Given the description of an element on the screen output the (x, y) to click on. 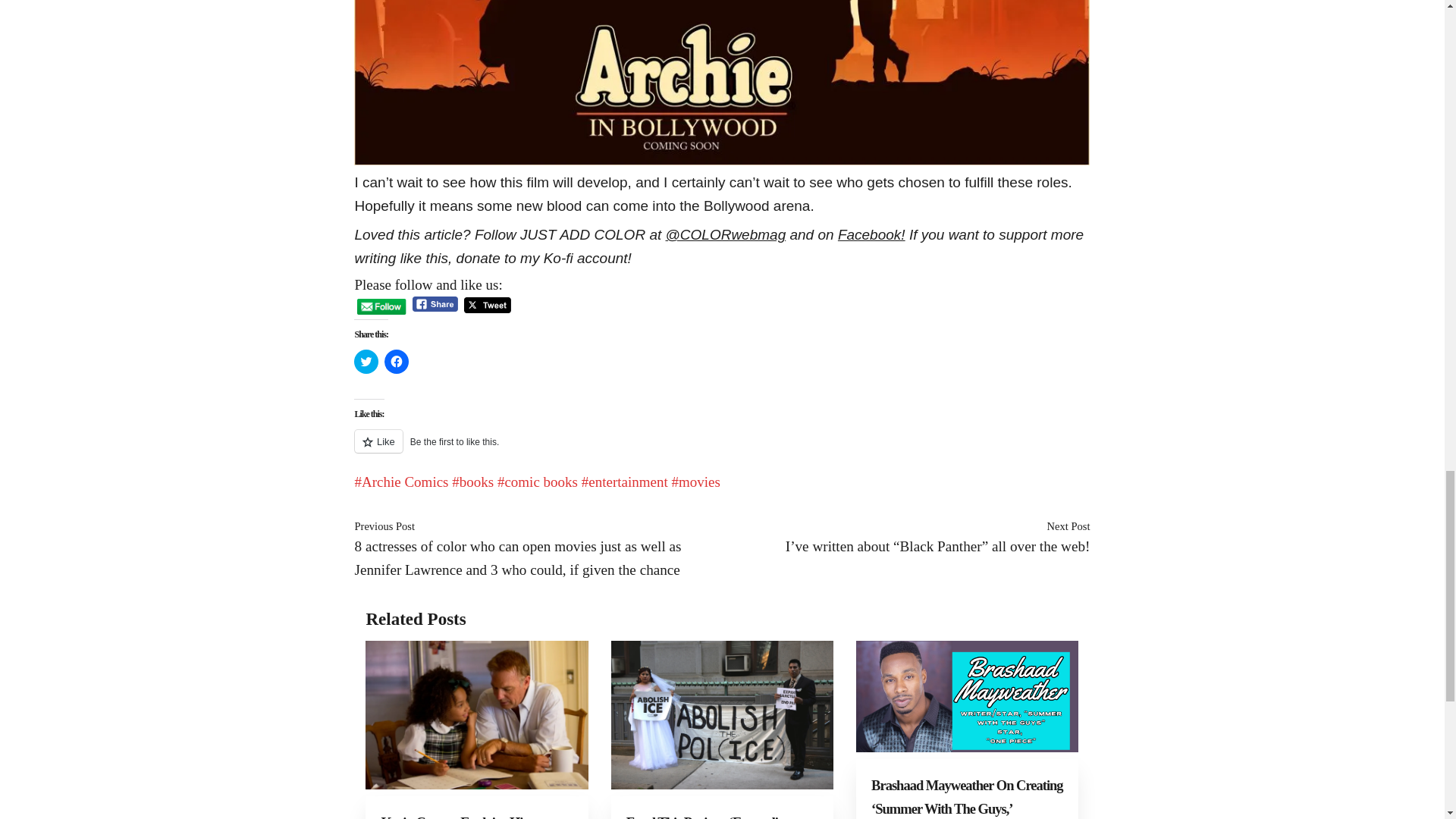
Facebook Share (435, 304)
Tweet (487, 304)
Click to share on Facebook (396, 361)
Click to share on Twitter (365, 361)
Like or Reblog (721, 449)
